Given the description of an element on the screen output the (x, y) to click on. 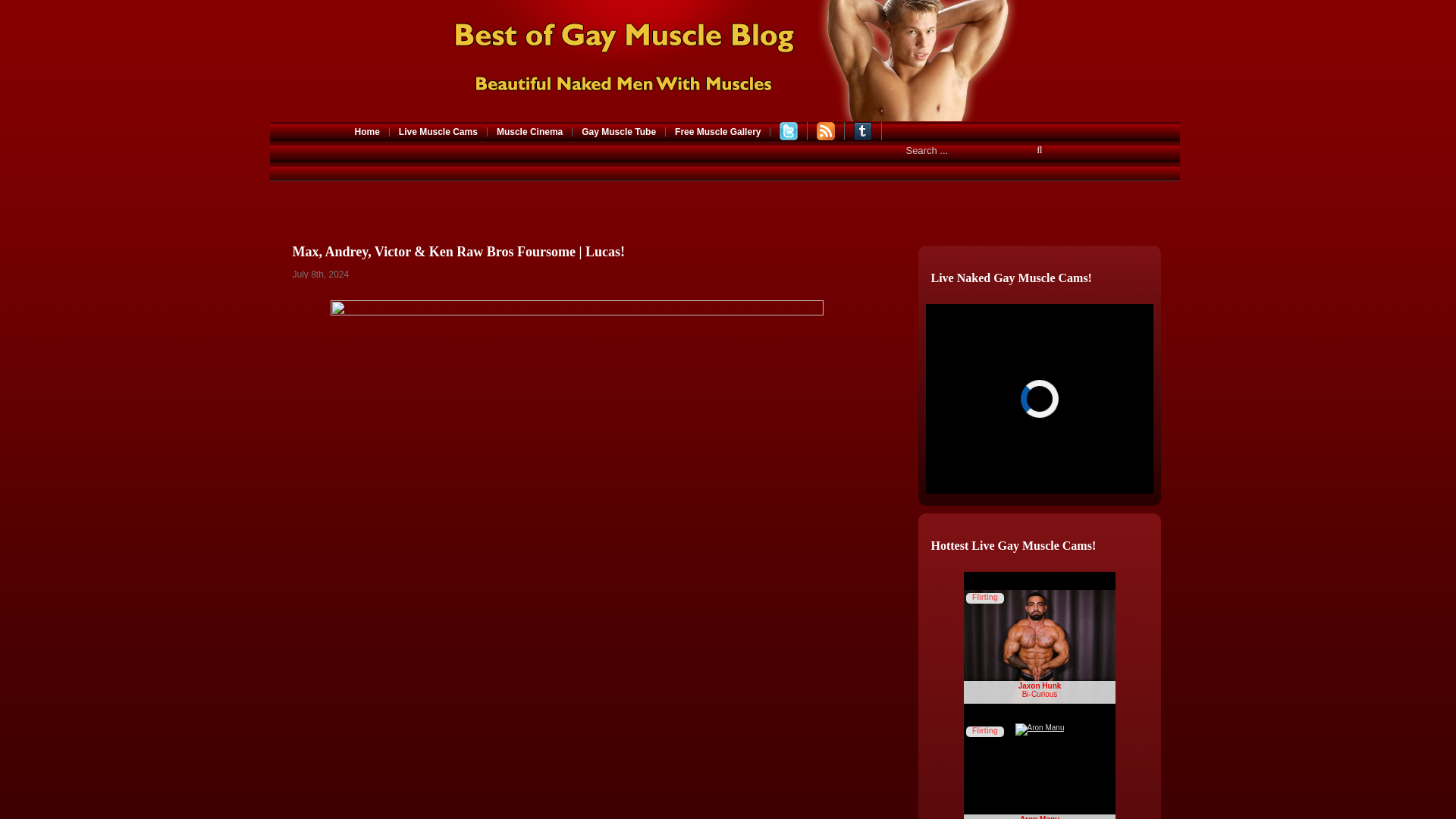
Live Muscle Cams (438, 131)
Home (368, 131)
Gay Muscle Tube (618, 131)
Muscle Cinema (529, 131)
Free Muscle Gallery (717, 131)
